Given the description of an element on the screen output the (x, y) to click on. 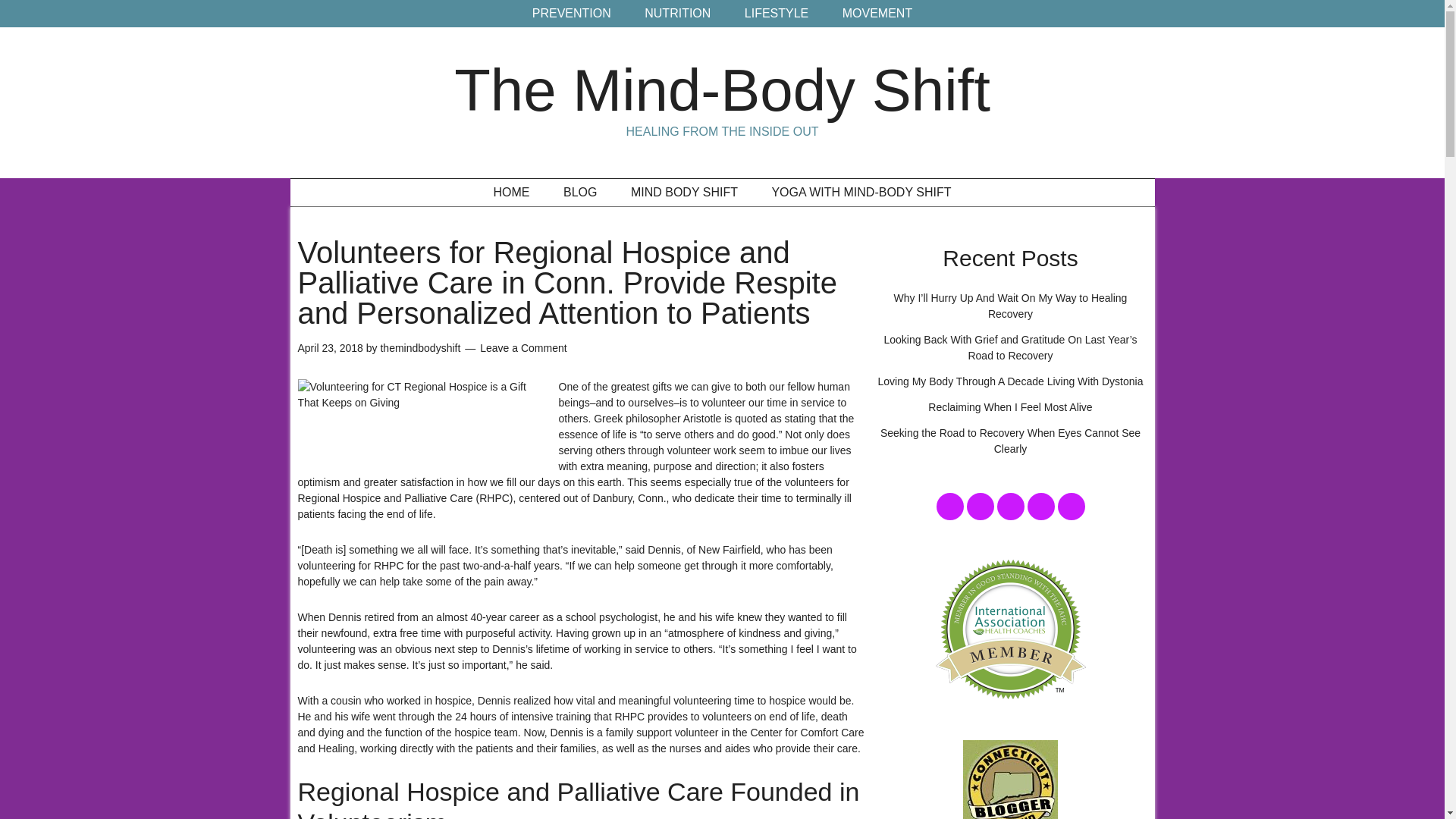
The Mind-Body Shift (722, 89)
MOVEMENT (877, 13)
YOGA WITH MIND-BODY SHIFT (860, 192)
NUTRITION (676, 13)
PREVENTION (571, 13)
Leave a Comment (523, 347)
themindbodyshift (420, 347)
HOME (511, 192)
MIND BODY SHIFT (683, 192)
BLOG (579, 192)
LIFESTYLE (776, 13)
